Given the description of an element on the screen output the (x, y) to click on. 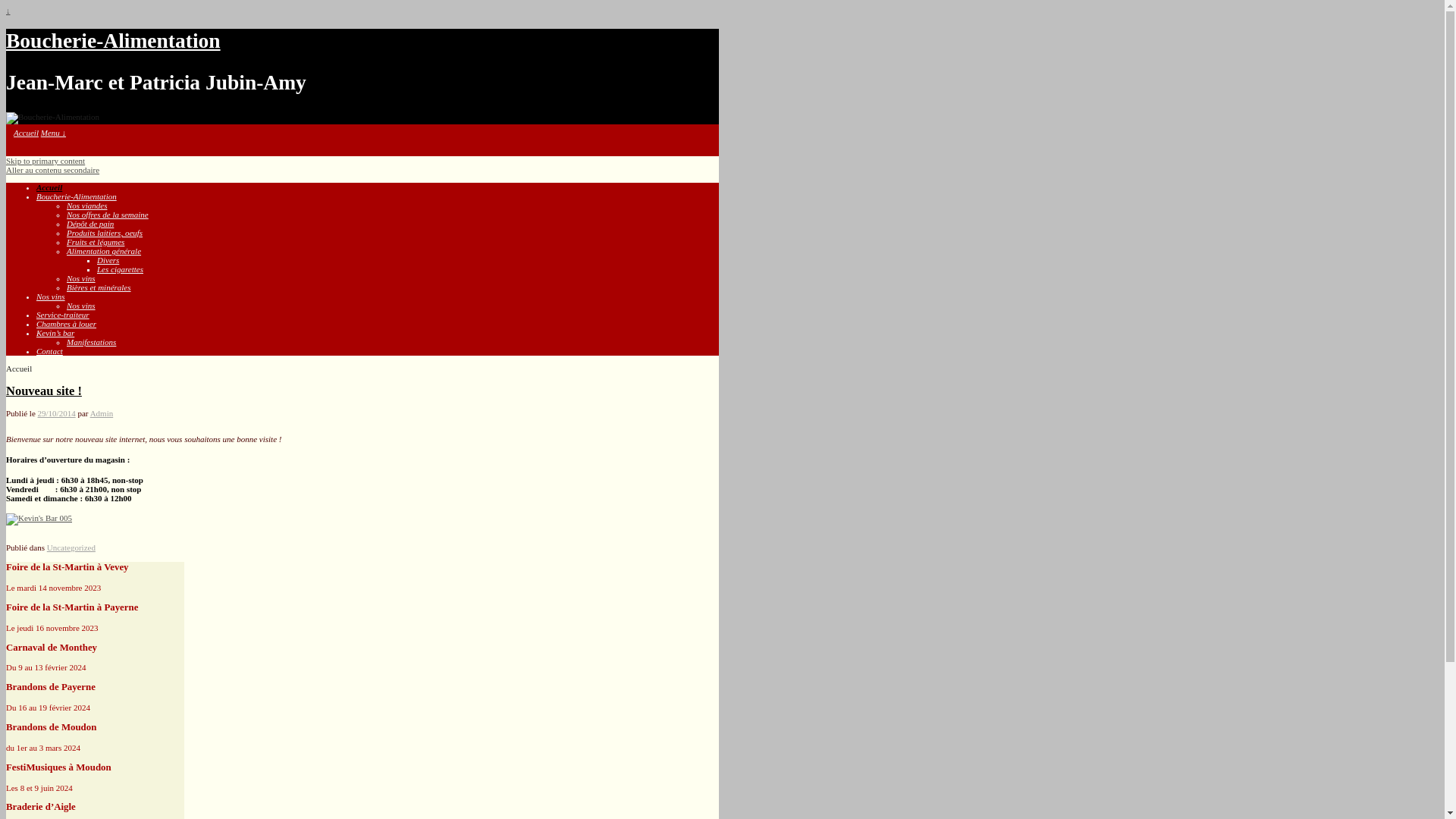
Uncategorized Element type: text (71, 547)
Boucherie-Alimentation Element type: text (76, 195)
29/10/2014 Element type: text (56, 412)
Nos viandes Element type: text (86, 205)
Accueil Element type: text (25, 132)
Nos vins Element type: text (50, 296)
Manifestations Element type: text (91, 341)
Aller au contenu secondaire Element type: text (52, 169)
Divers Element type: text (108, 259)
Admin Element type: text (101, 412)
Nos vins Element type: text (80, 277)
Service-traiteur Element type: text (62, 314)
Boucherie-Alimentation Element type: text (113, 40)
Nos vins Element type: text (80, 305)
Produits laitiers, oeufs Element type: text (104, 232)
Contact Element type: text (49, 350)
Nos offres de la semaine Element type: text (107, 214)
Skip to primary content Element type: text (45, 160)
Nouveau site ! Element type: text (43, 390)
Les cigarettes Element type: text (120, 268)
Accueil Element type: text (49, 186)
